Given the description of an element on the screen output the (x, y) to click on. 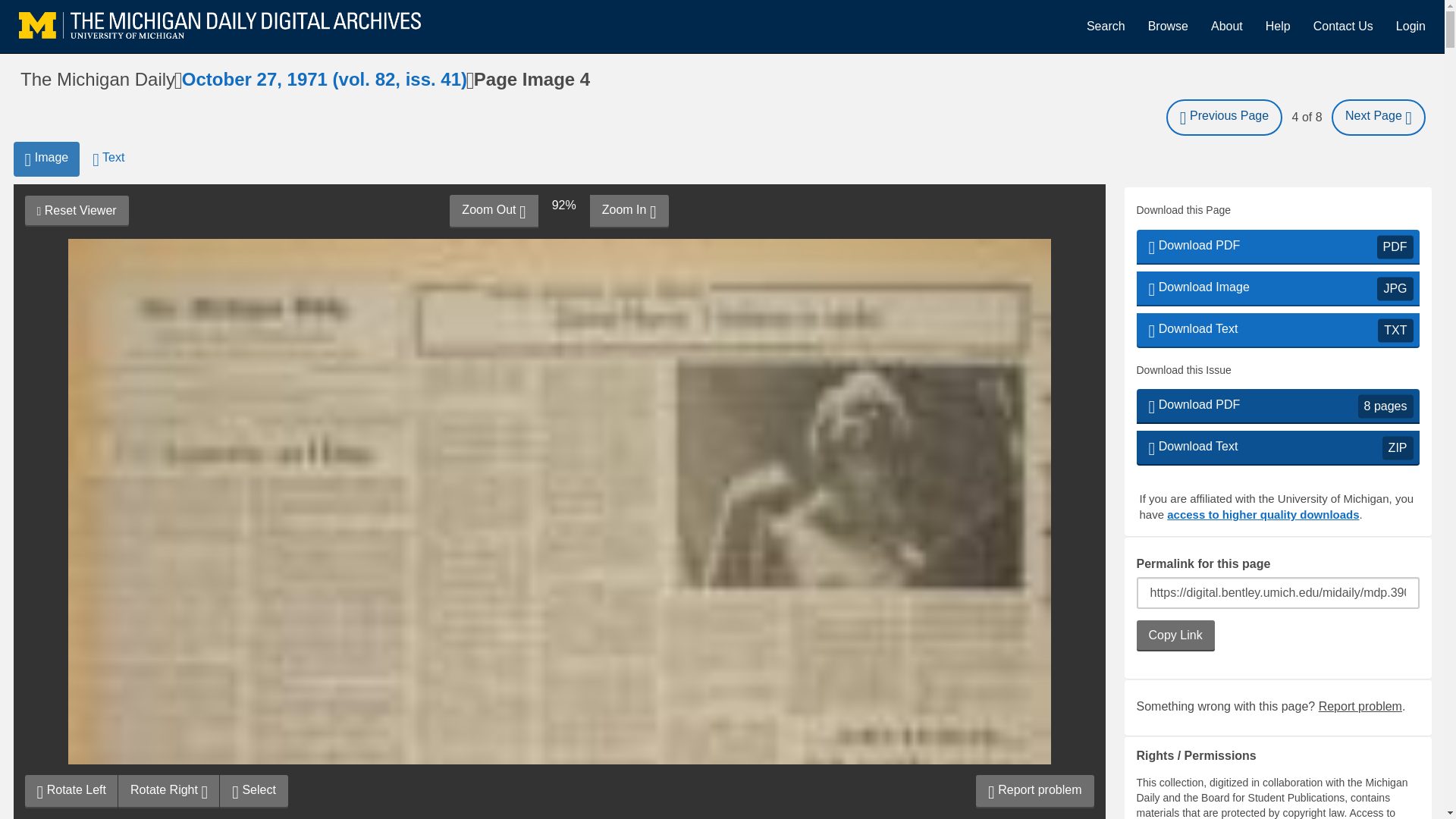
Reset Viewer (76, 210)
Rotate Left (70, 791)
Report problem (1276, 330)
Image (1034, 791)
Zoom Out (46, 158)
Zoom in (1276, 448)
Rotate Right (253, 791)
